Given the description of an element on the screen output the (x, y) to click on. 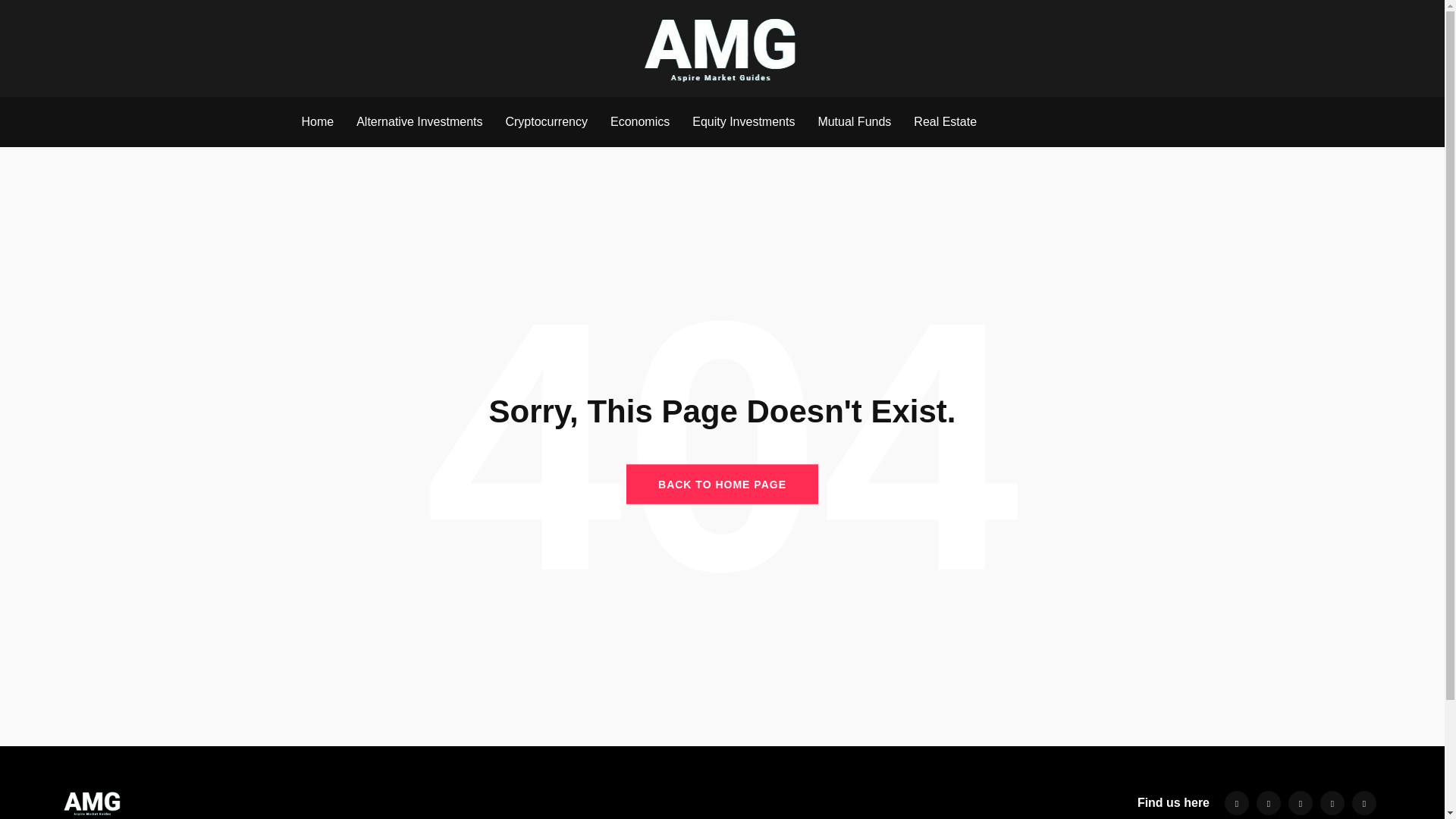
Economics (639, 121)
BACK TO HOME PAGE (722, 483)
Home (317, 121)
Cryptocurrency (545, 121)
Real Estate (945, 121)
Mutual Funds (854, 121)
Alternative Investments (419, 121)
Equity Investments (743, 121)
